Given the description of an element on the screen output the (x, y) to click on. 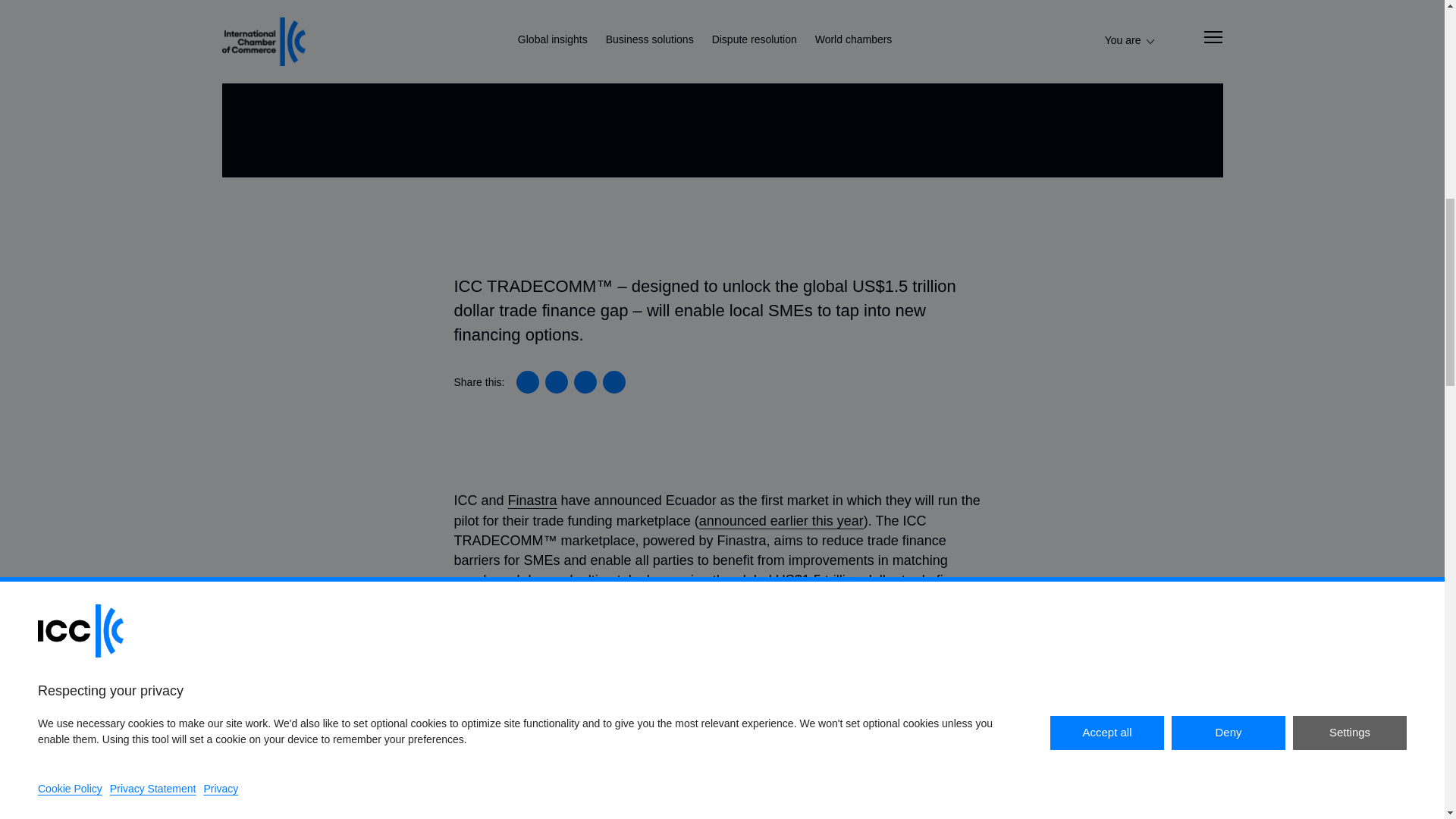
Share on X (555, 382)
Share on Linkedin (527, 382)
Share this article with your email software (614, 382)
Share on Facebook (584, 382)
